Given the description of an element on the screen output the (x, y) to click on. 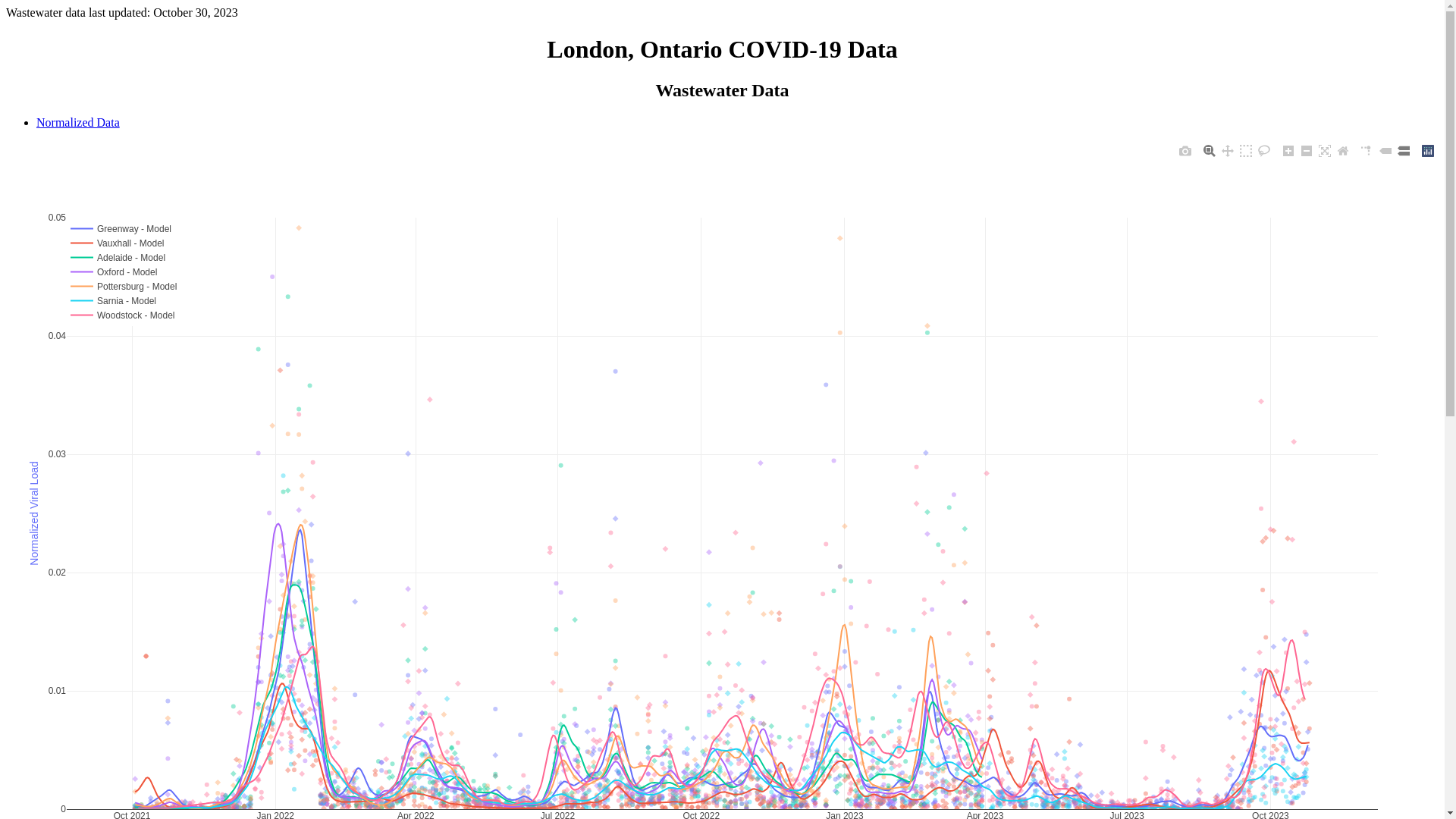
Normalized Data Element type: text (77, 122)
